Given the description of an element on the screen output the (x, y) to click on. 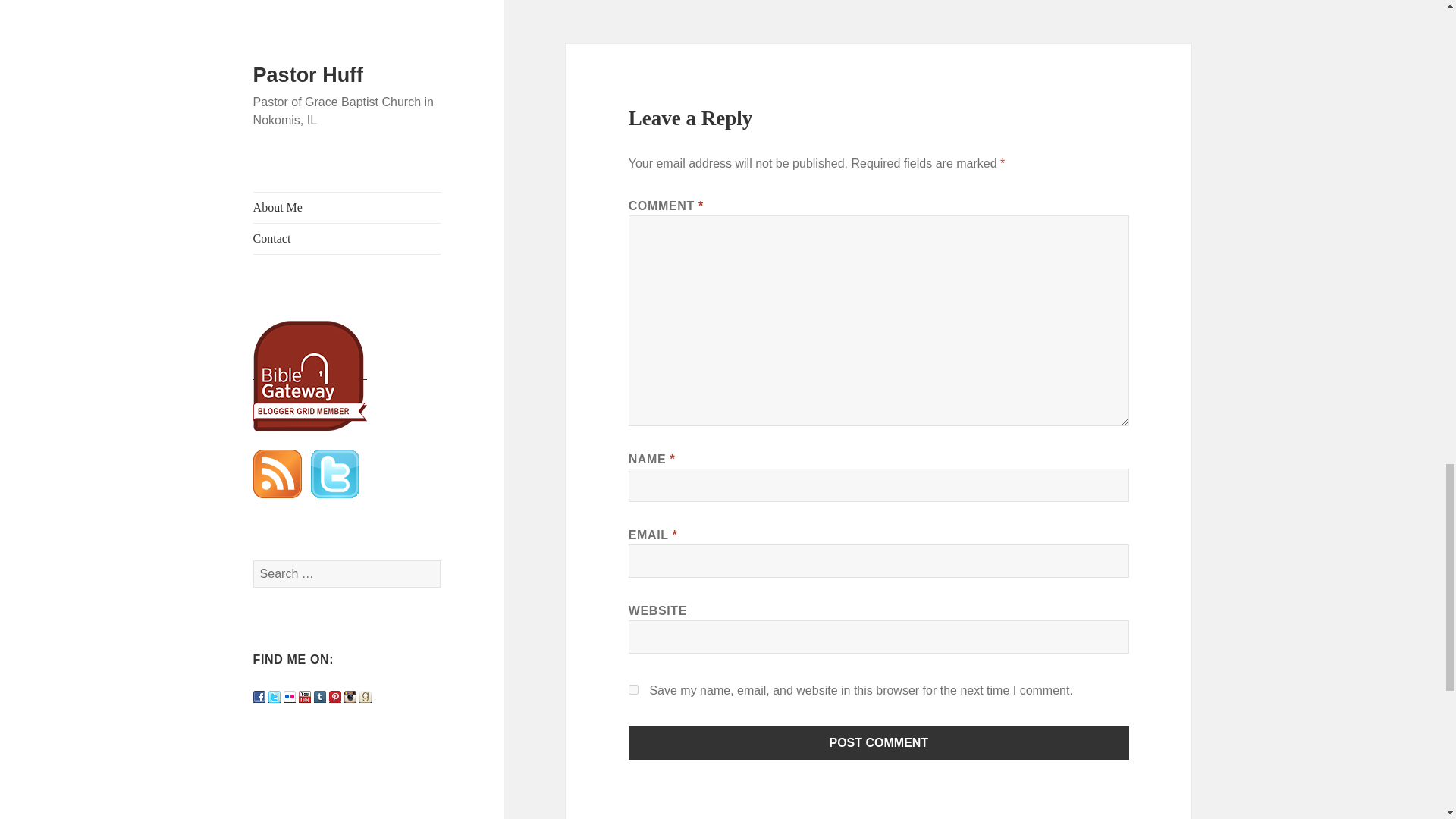
yes (633, 689)
Post Comment (878, 743)
Post Comment (878, 743)
